Given the description of an element on the screen output the (x, y) to click on. 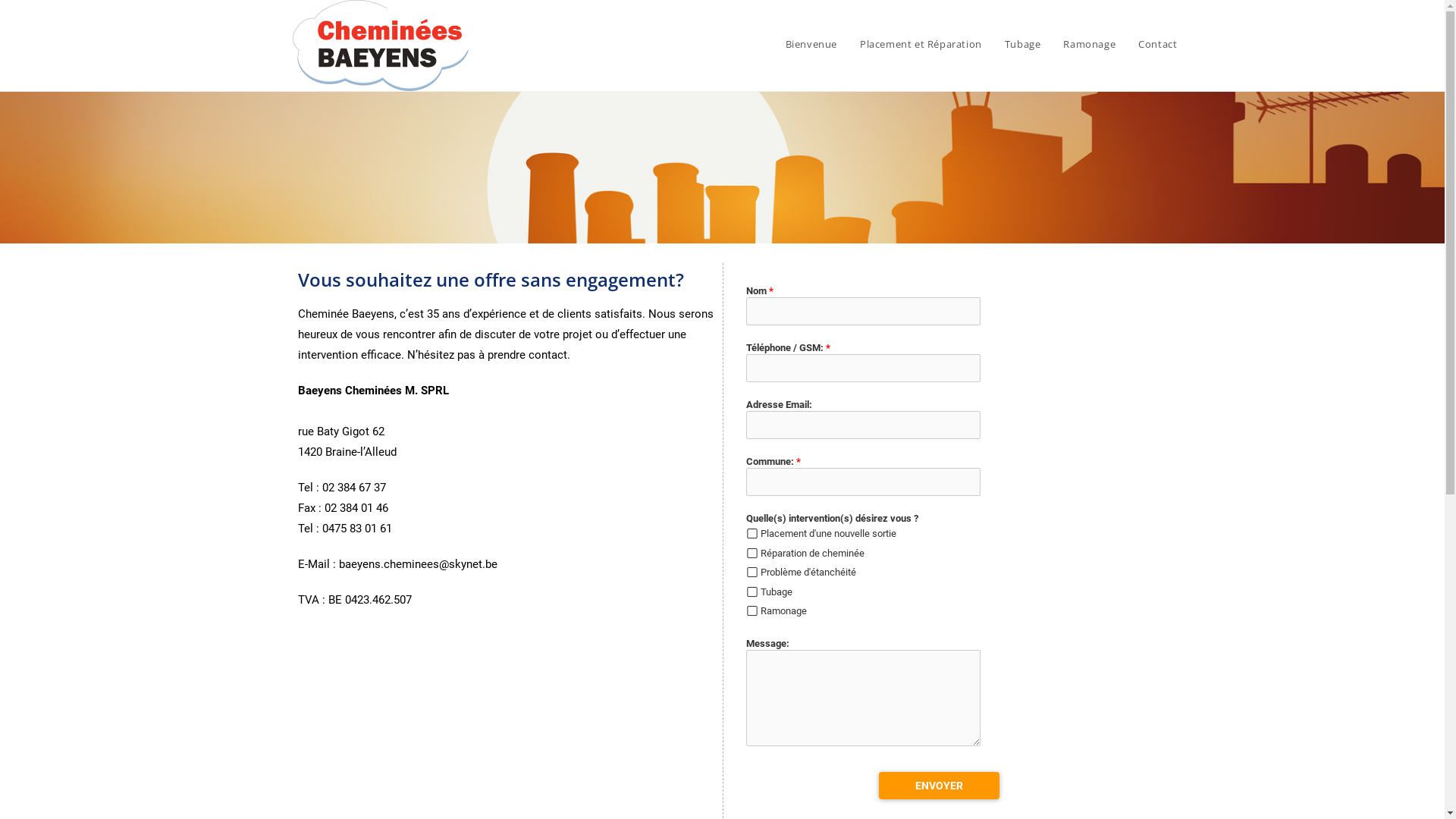
Ramonage Element type: text (1088, 43)
Bienvenue Element type: text (811, 43)
Contact Element type: text (1157, 43)
Tubage Element type: text (1022, 43)
